Given the description of an element on the screen output the (x, y) to click on. 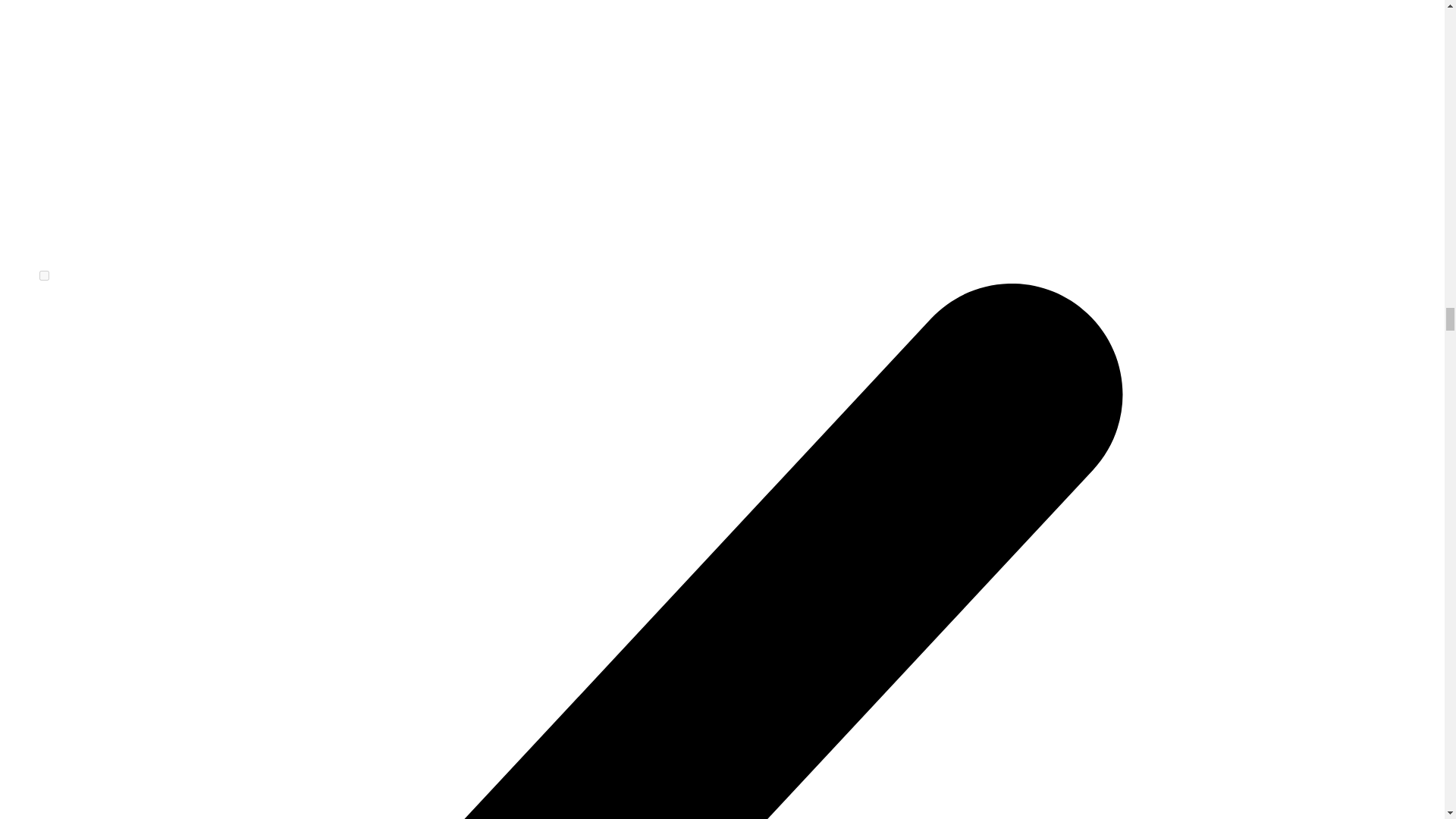
on (44, 275)
